Given the description of an element on the screen output the (x, y) to click on. 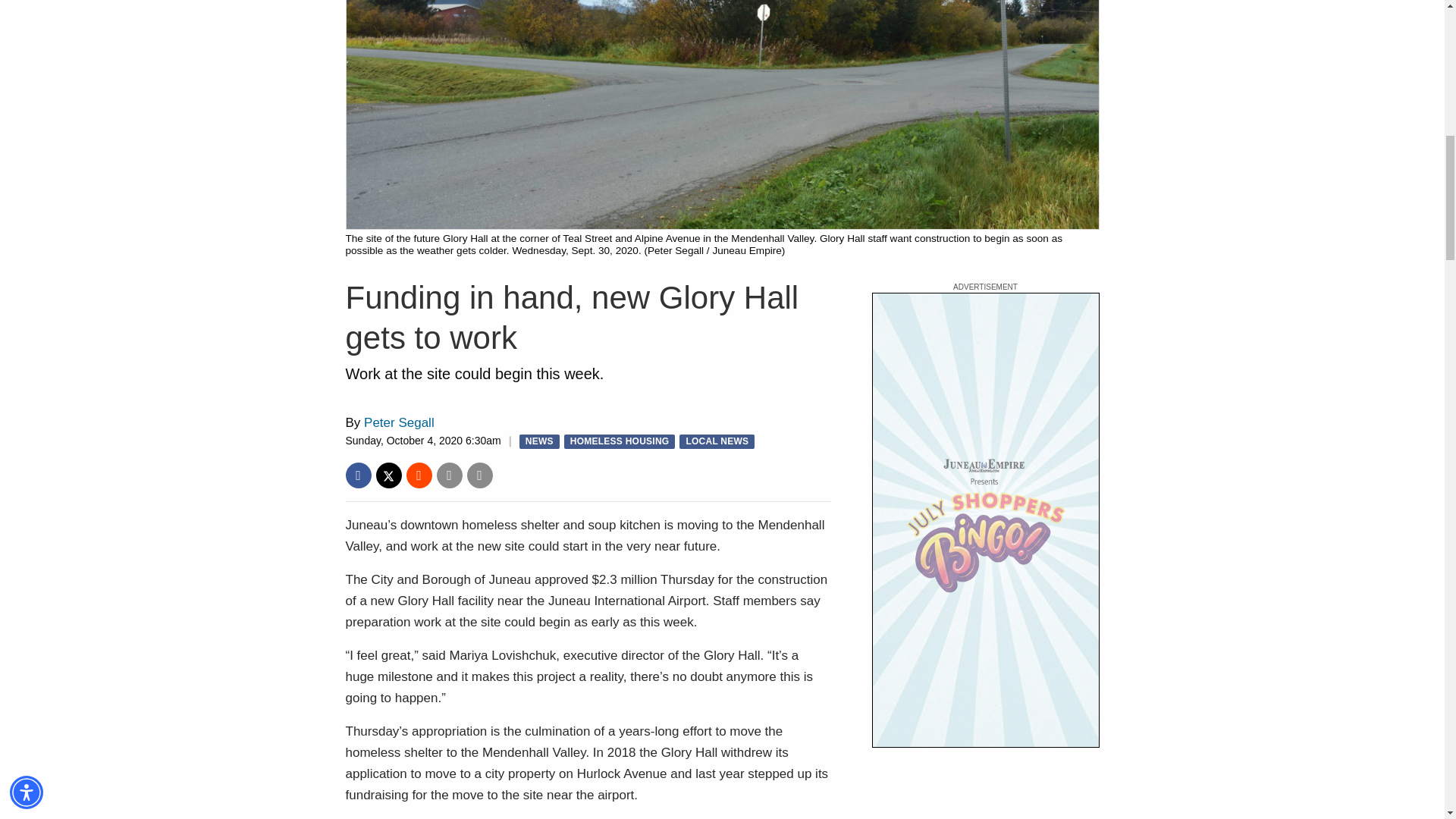
Post to Facebook (358, 475)
Print story (480, 475)
Email story (449, 475)
Post to Reddit (419, 475)
Post to Twitter (388, 475)
